Given the description of an element on the screen output the (x, y) to click on. 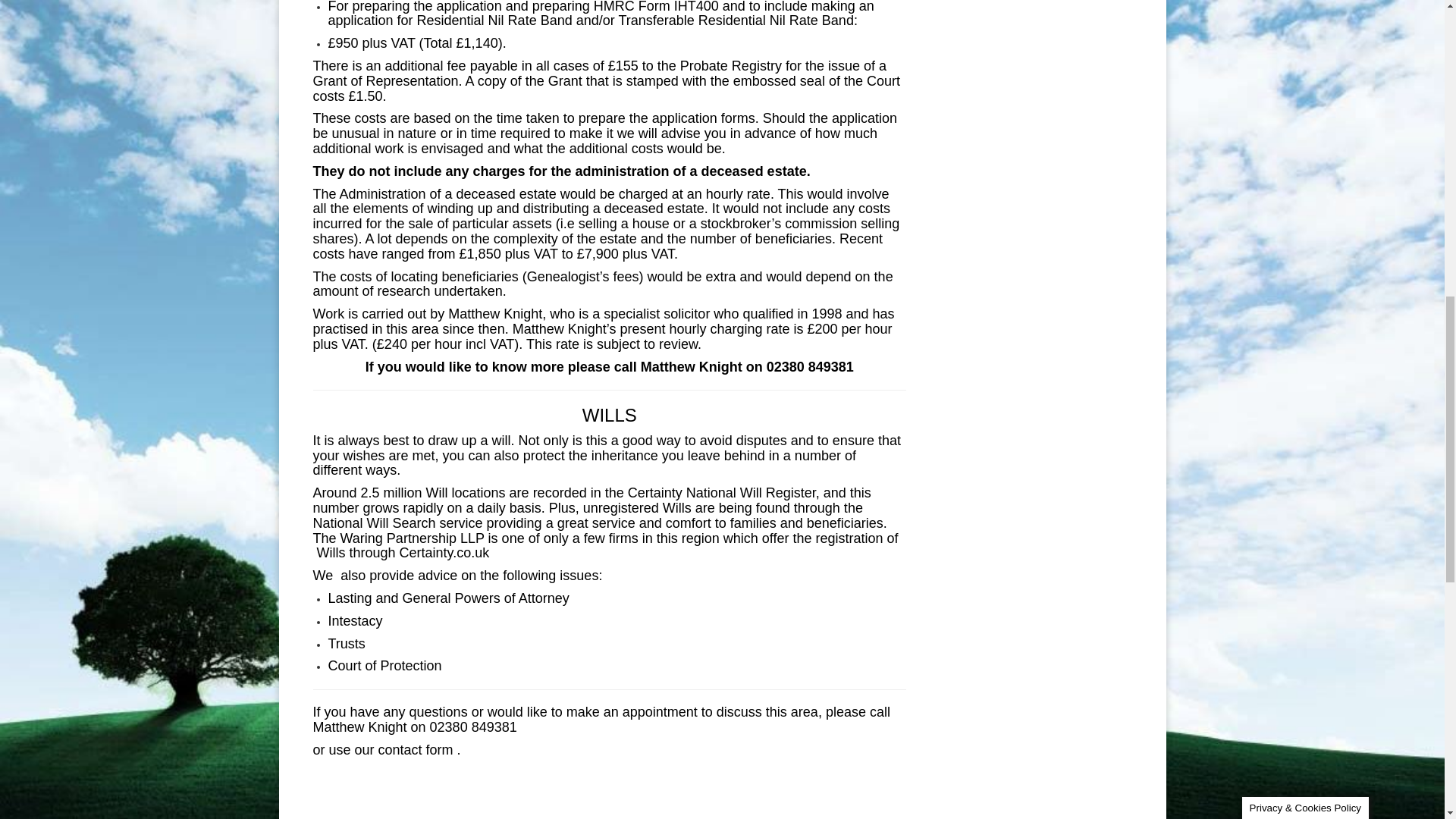
contact form (415, 749)
